Given the description of an element on the screen output the (x, y) to click on. 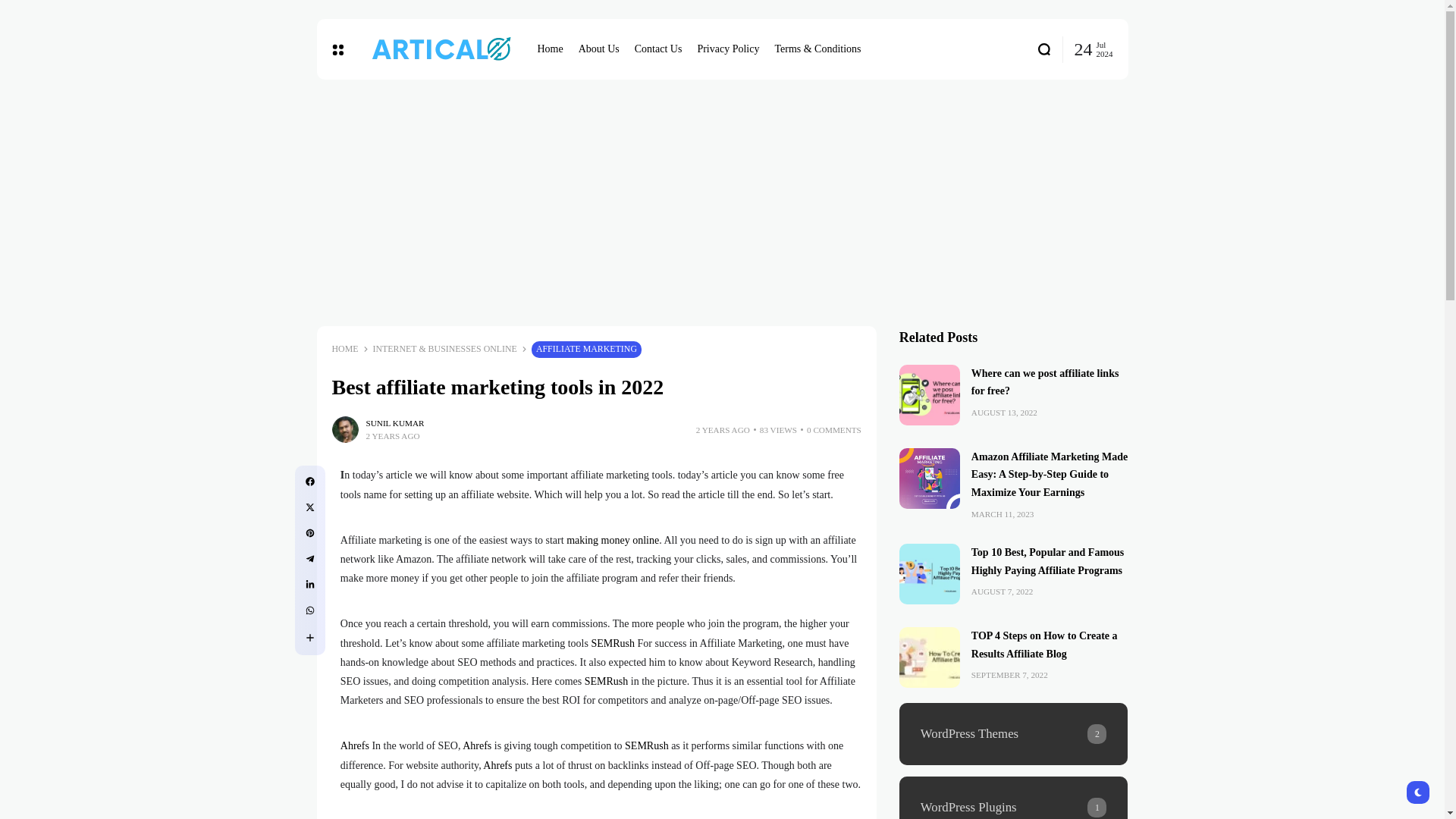
SEMRush (646, 745)
83 VIEWS (778, 430)
AFFILIATE MARKETING (586, 349)
Posts by Sunil Kumar (394, 422)
Privacy Policy (727, 48)
Ahrefs (477, 745)
making money online (612, 540)
Where can we post affiliate links for free? (929, 394)
2 YEARS AGO (722, 430)
SEMRush (612, 643)
SEMRush (606, 681)
SUNIL KUMAR (394, 422)
HOME (344, 349)
Ahrefs (497, 765)
